Given the description of an element on the screen output the (x, y) to click on. 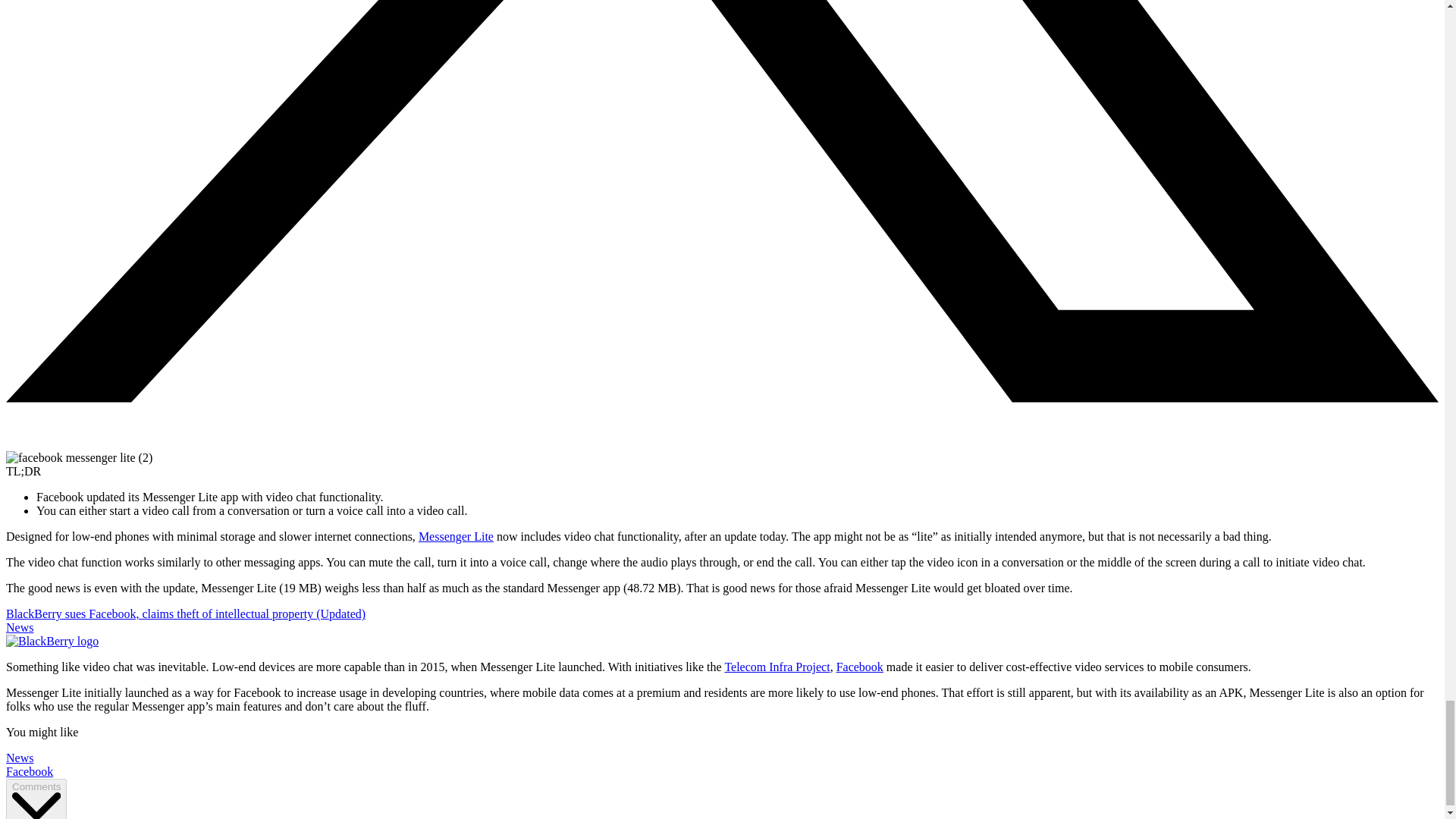
Facebook (859, 666)
Telecom Infra Project (776, 666)
Messenger Lite (456, 535)
BlackBerry logo (52, 641)
Facebook (28, 771)
News (19, 757)
